Given the description of an element on the screen output the (x, y) to click on. 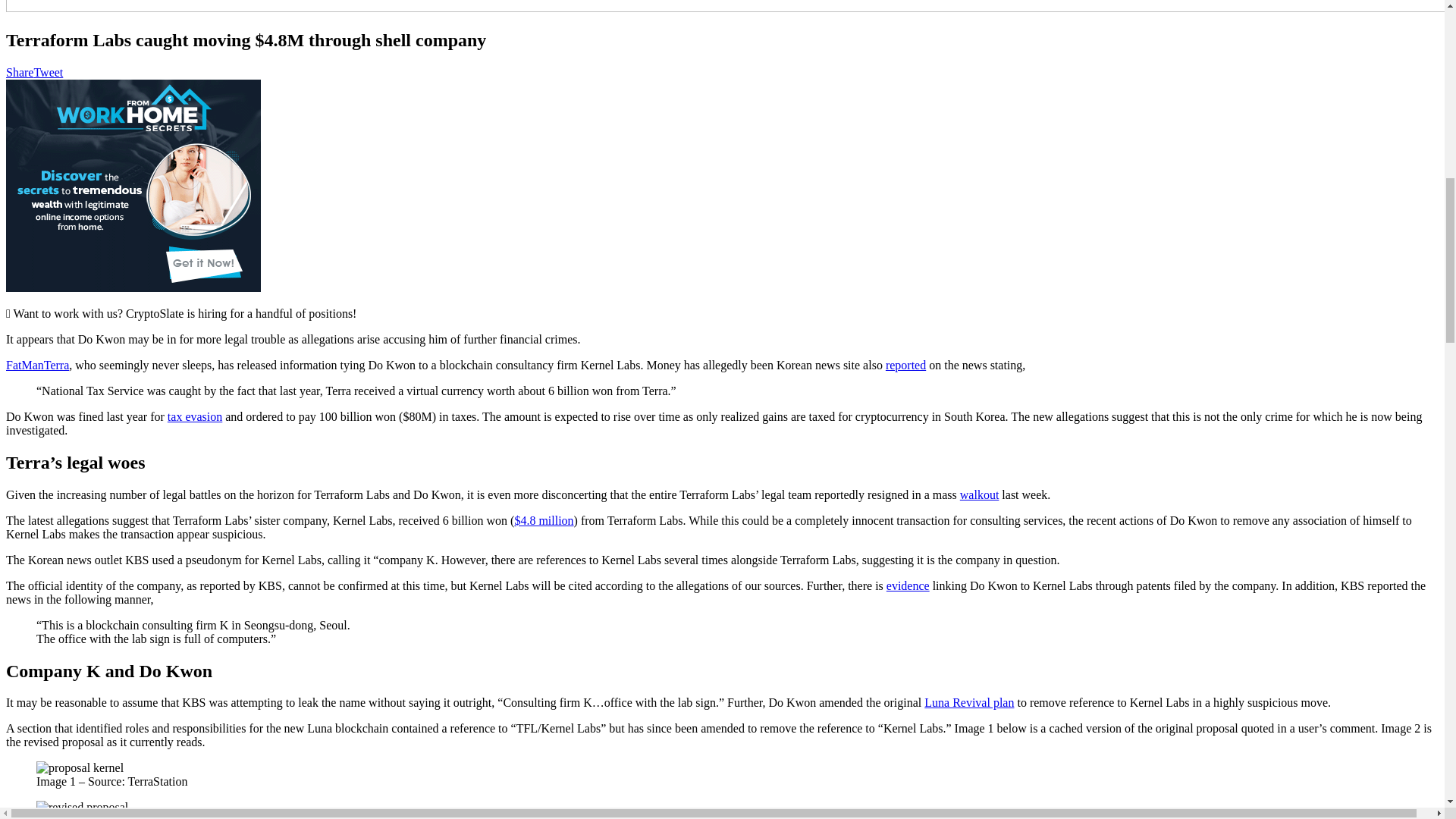
reported (905, 364)
Work from Home Secrets (132, 287)
walkout (978, 494)
evidence (908, 585)
Work from Home Secrets (132, 185)
Tweet (47, 72)
FatManTerra (36, 364)
Luna Revival plan (968, 702)
tax evasion (194, 416)
Share (19, 72)
Tweet on Twitter (47, 72)
Share On Facebook (19, 72)
